Given the description of an element on the screen output the (x, y) to click on. 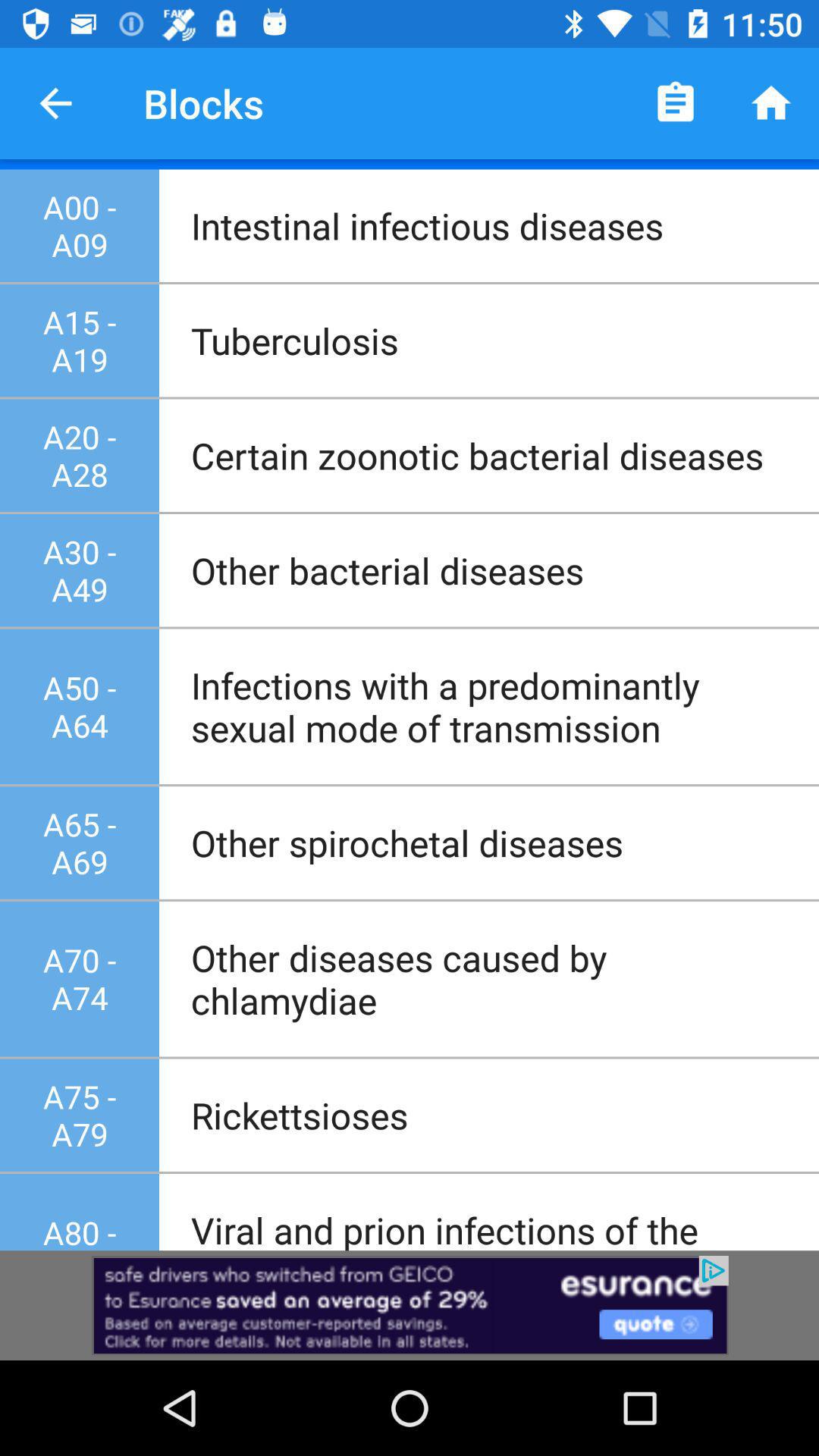
open advertisement (409, 1305)
